Given the description of an element on the screen output the (x, y) to click on. 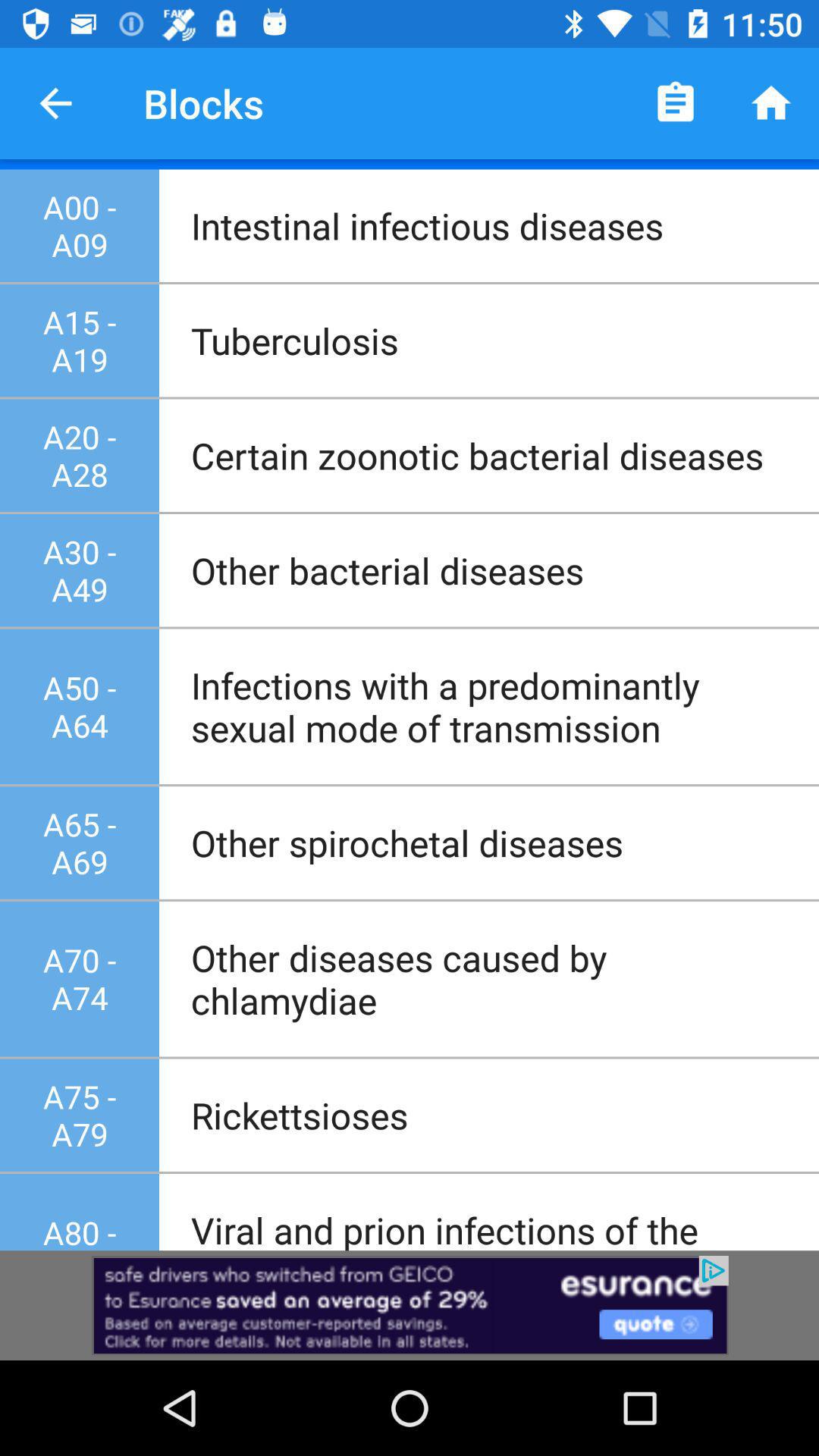
open advertisement (409, 1305)
